Given the description of an element on the screen output the (x, y) to click on. 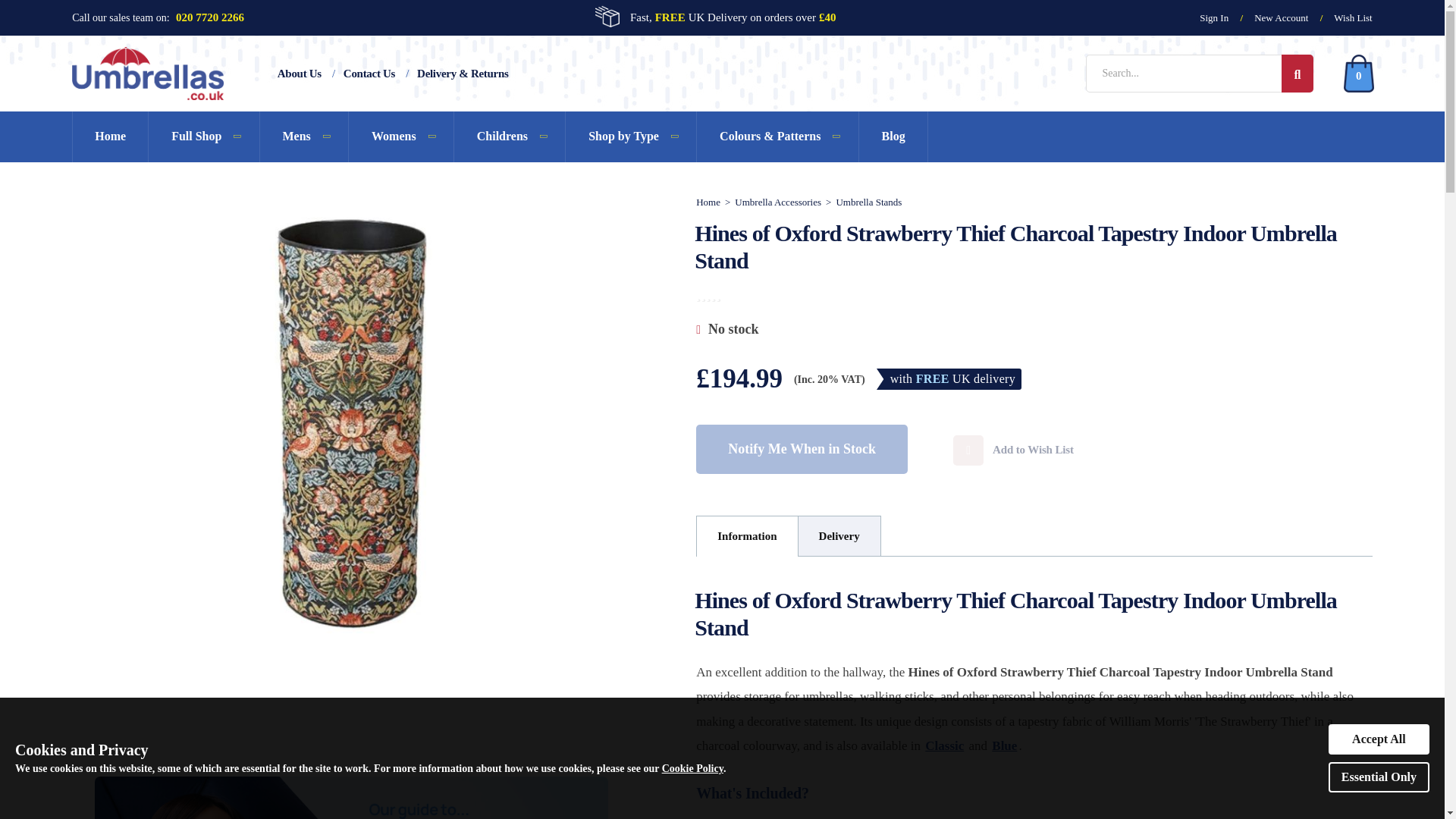
Contact Us (369, 72)
Full Shop (203, 136)
About Us (299, 72)
Home (109, 136)
Umbrellas.co.uk (147, 73)
Sign In (1213, 18)
Wish List (1352, 18)
Not yet reviewed (707, 293)
New Account (1280, 18)
Your Bag (1358, 73)
